Given the description of an element on the screen output the (x, y) to click on. 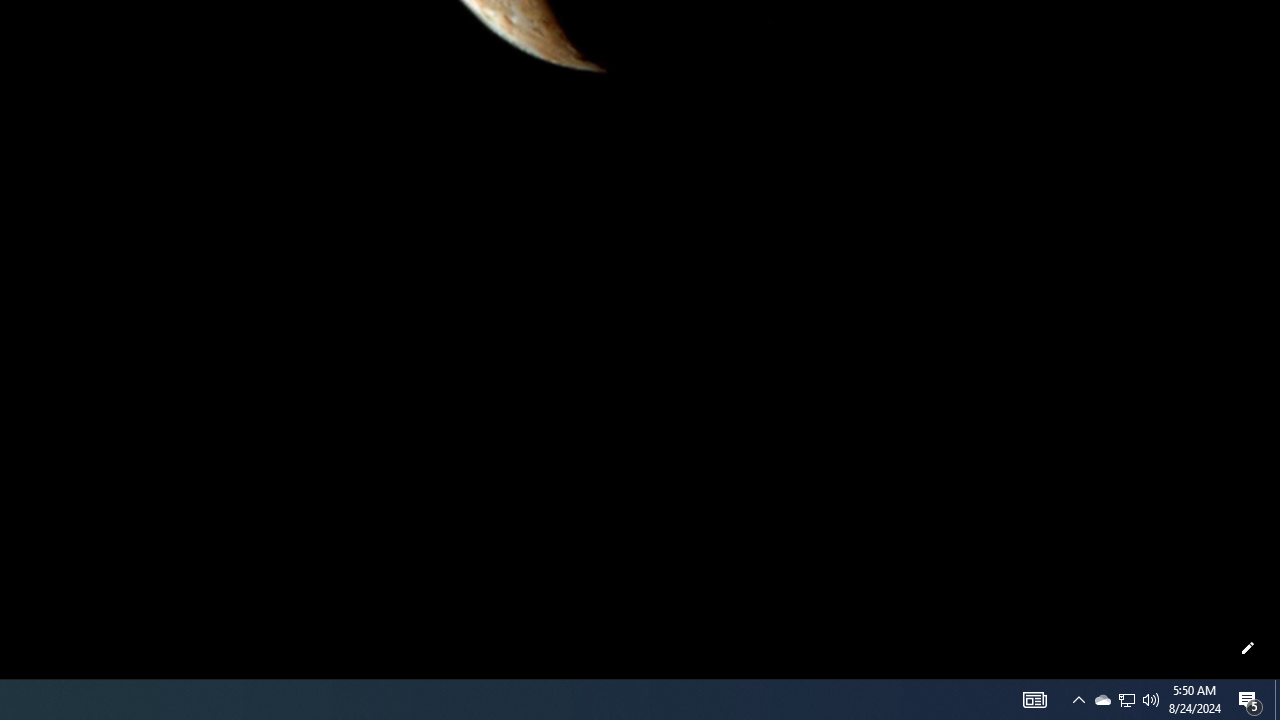
Customize this page (1247, 647)
